Given the description of an element on the screen output the (x, y) to click on. 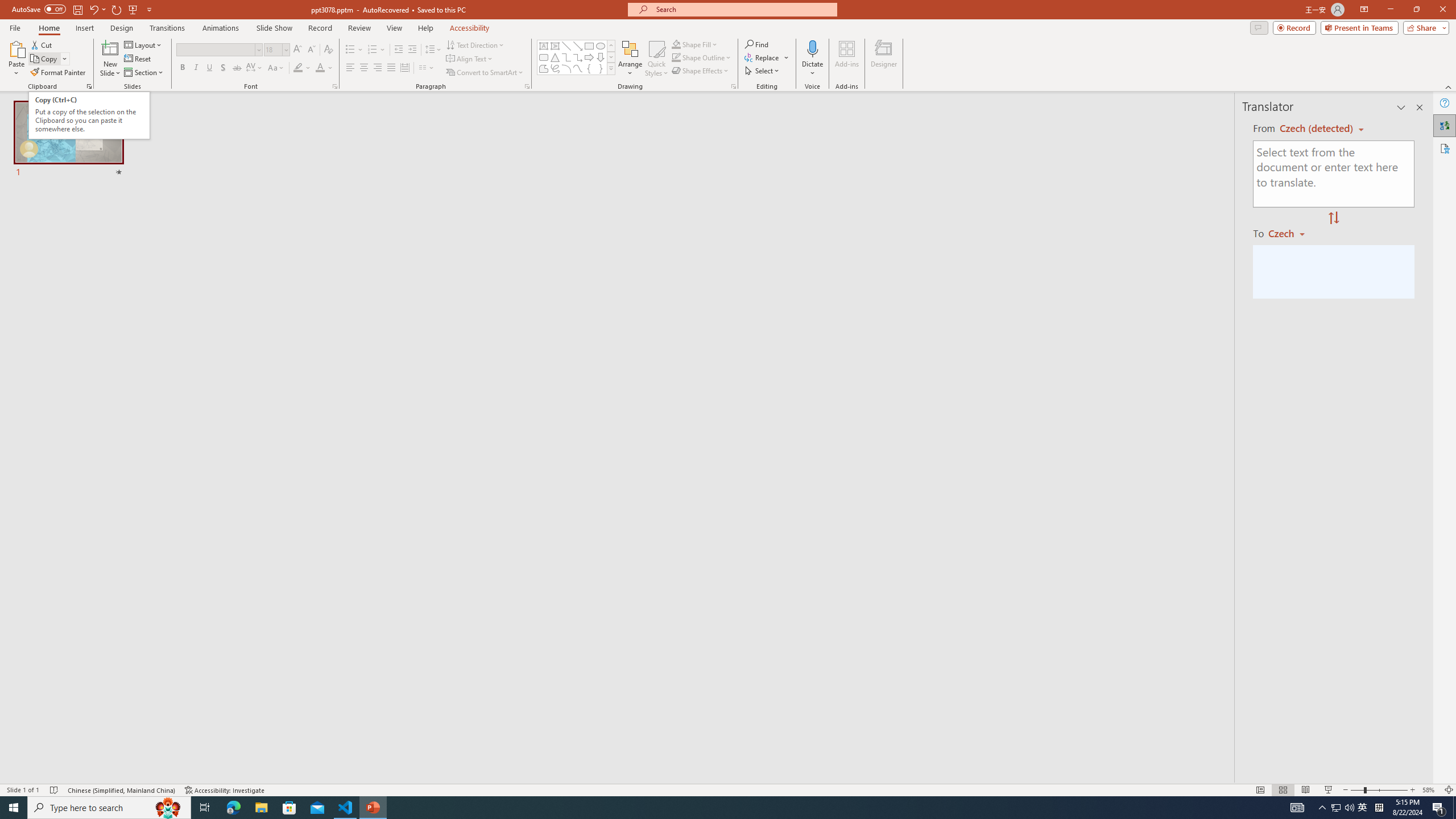
New Slide (110, 48)
Character Spacing (254, 67)
Row up (611, 45)
New Slide (110, 58)
Shape Outline (701, 56)
Insert (83, 28)
Font Color (324, 67)
Arrow: Down (600, 57)
Customize Quick Access Toolbar (149, 9)
Line Spacing (433, 49)
Clear Formatting (327, 49)
Row Down (611, 56)
Shape Outline Green, Accent 1 (675, 56)
